Given the description of an element on the screen output the (x, y) to click on. 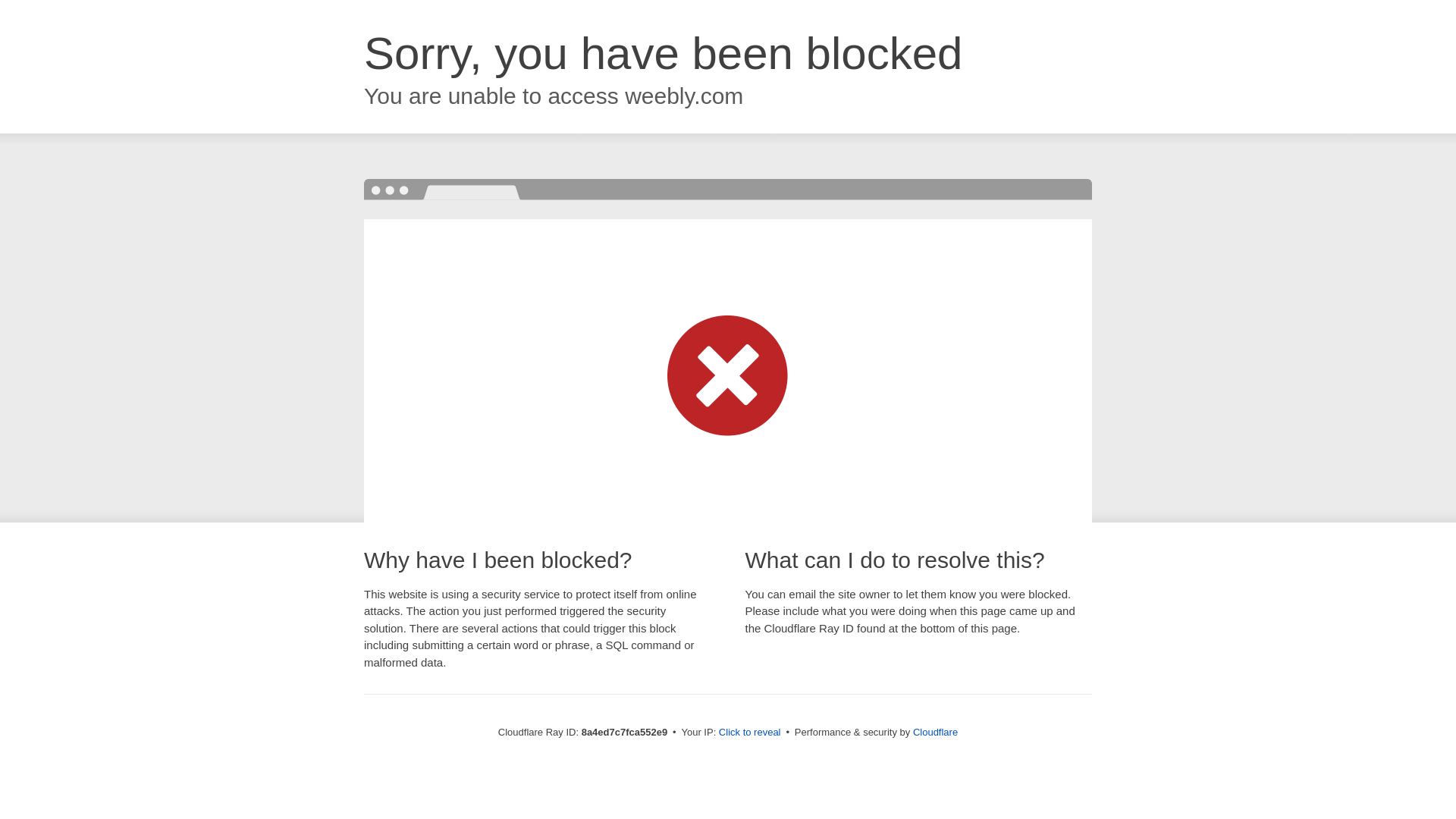
Click to reveal (749, 732)
Cloudflare (935, 731)
